Given the description of an element on the screen output the (x, y) to click on. 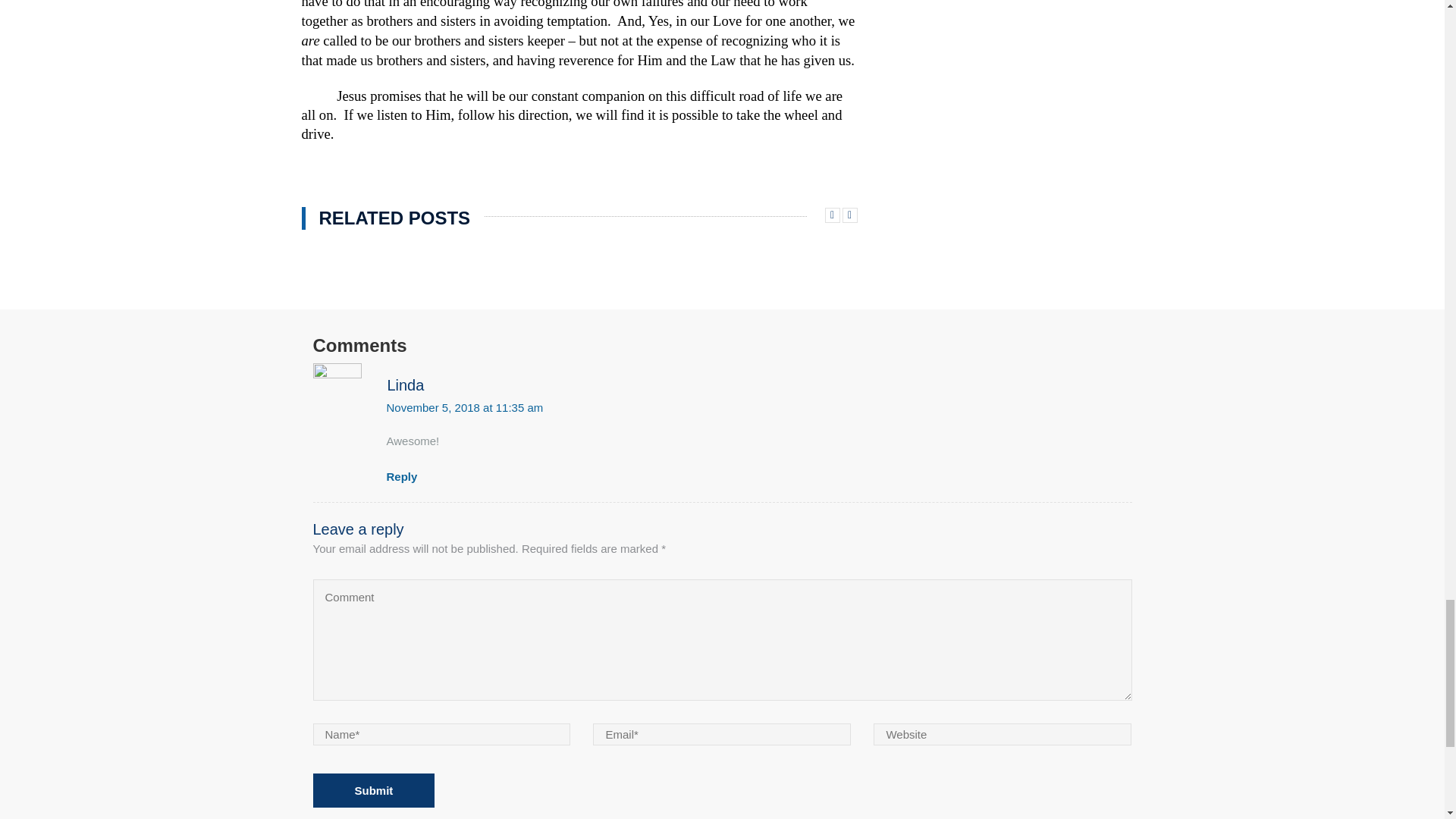
Submit (373, 790)
